Given the description of an element on the screen output the (x, y) to click on. 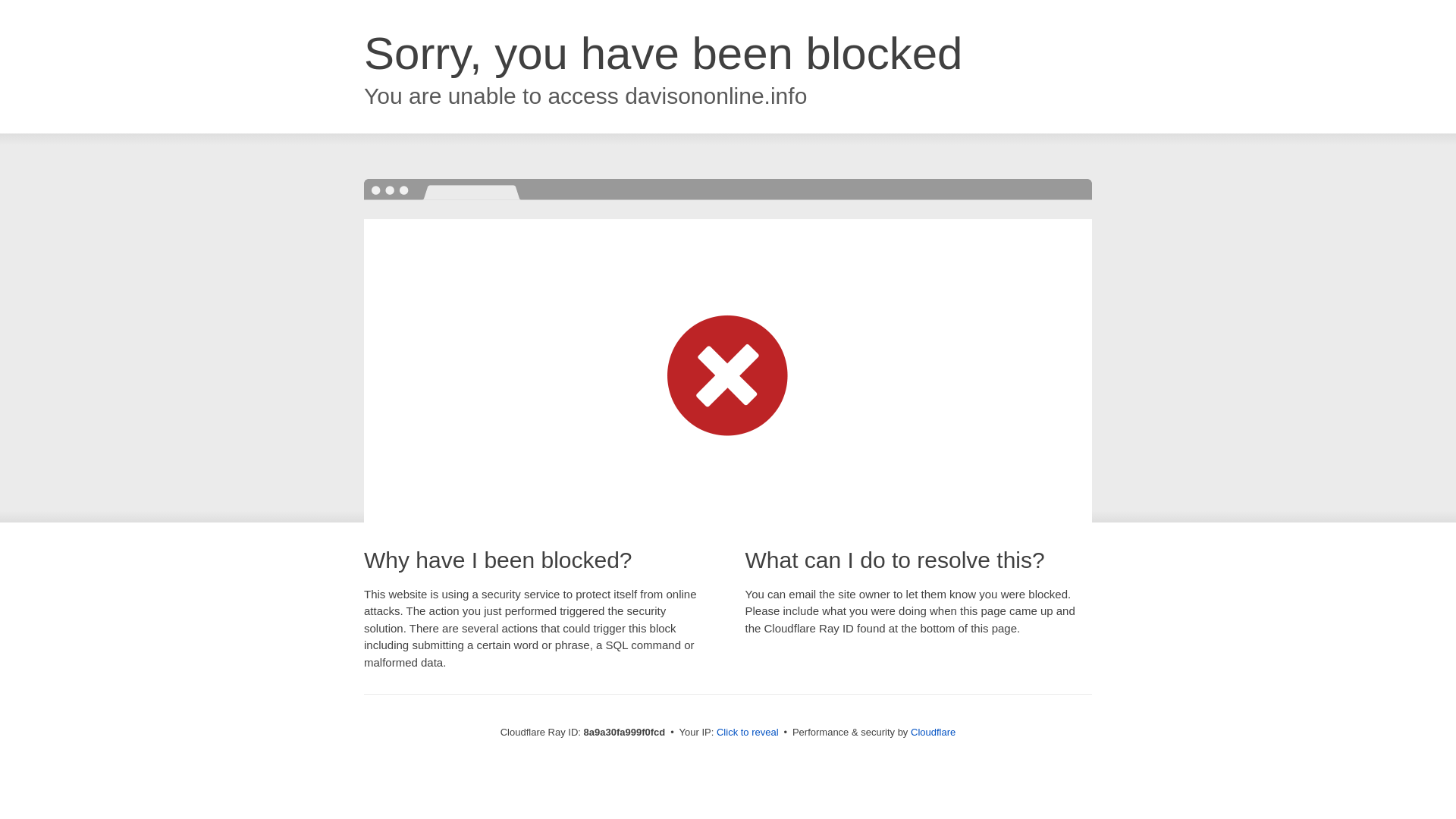
Click to reveal (747, 732)
Cloudflare (933, 731)
